Given the description of an element on the screen output the (x, y) to click on. 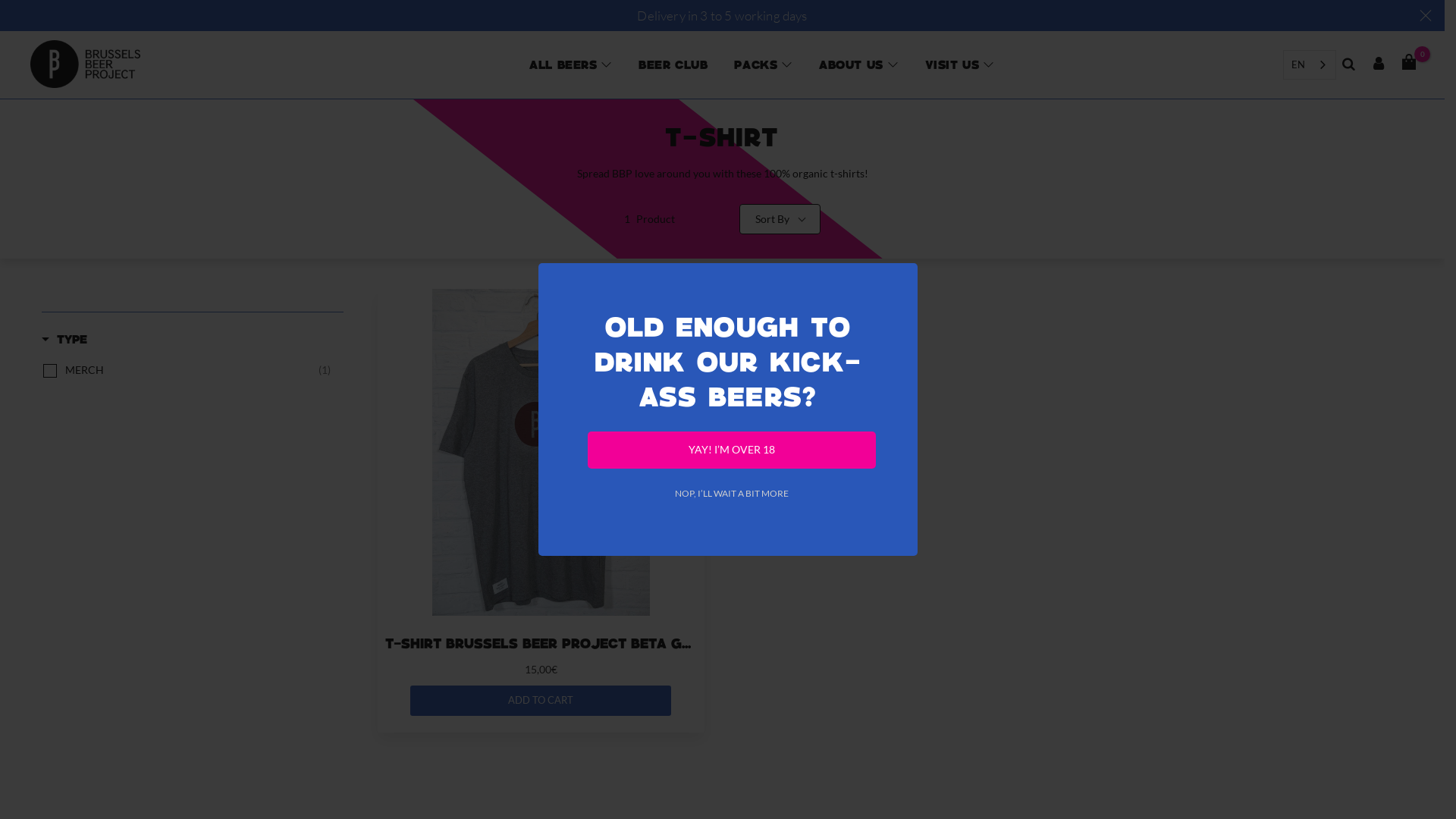
EN Element type: text (1309, 64)
ALL BEERS Element type: text (563, 64)
T-SHIRT Brussels Beer Project Beta Grey Element type: text (540, 643)
Sort By Element type: text (779, 218)
0 Element type: text (1408, 62)
MERCH
(1) Element type: text (197, 369)
About us Element type: text (851, 64)
ADD TO CART Element type: text (540, 700)
VISIT US Element type: text (951, 64)
Packs Element type: text (755, 64)
TYPE Element type: text (64, 341)
BEER CLUB Element type: text (673, 64)
